Given the description of an element on the screen output the (x, y) to click on. 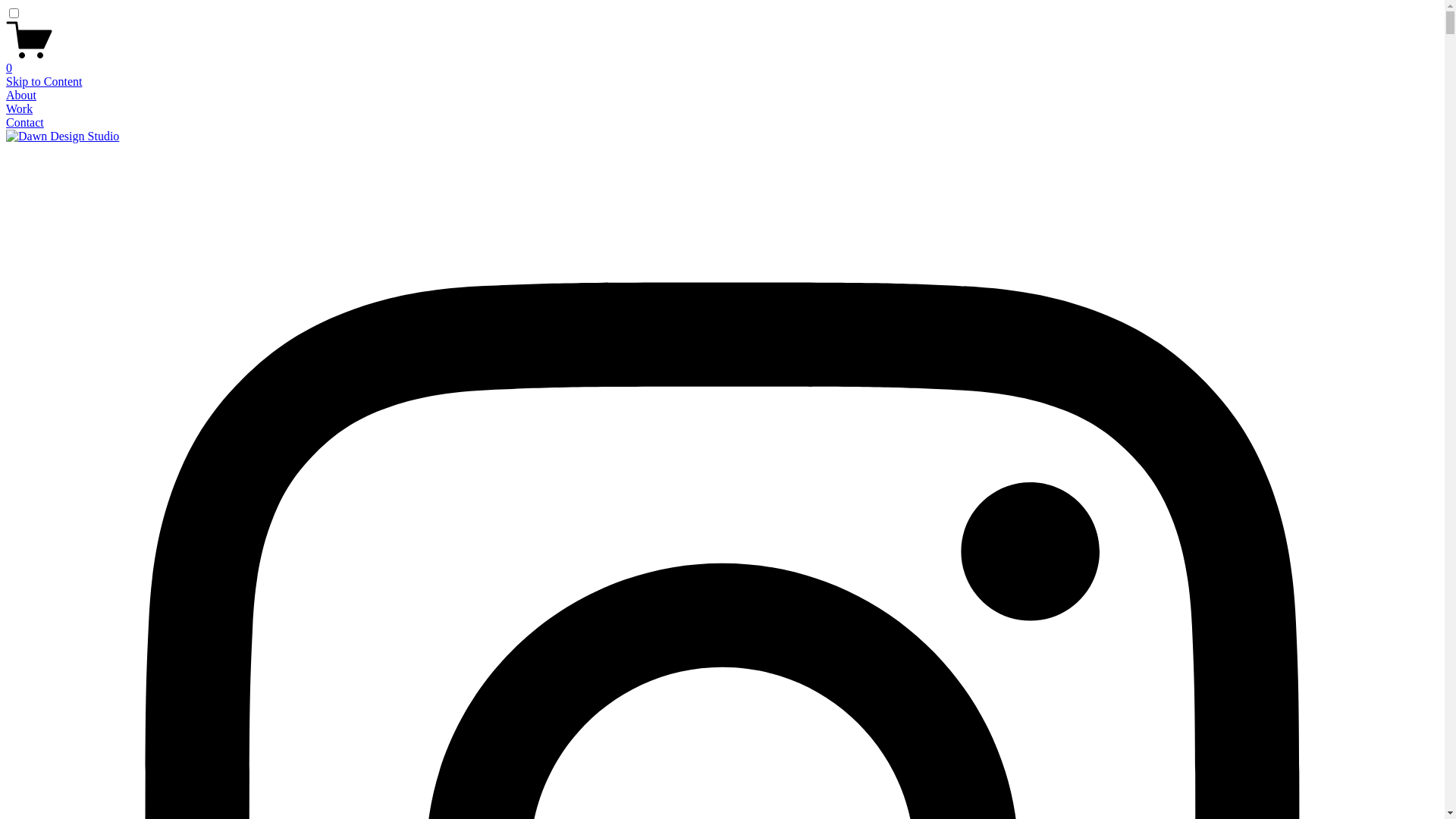
0 Element type: text (722, 61)
About Element type: text (21, 94)
Work Element type: text (19, 108)
Contact Element type: text (24, 122)
Skip to Content Element type: text (43, 81)
